Given the description of an element on the screen output the (x, y) to click on. 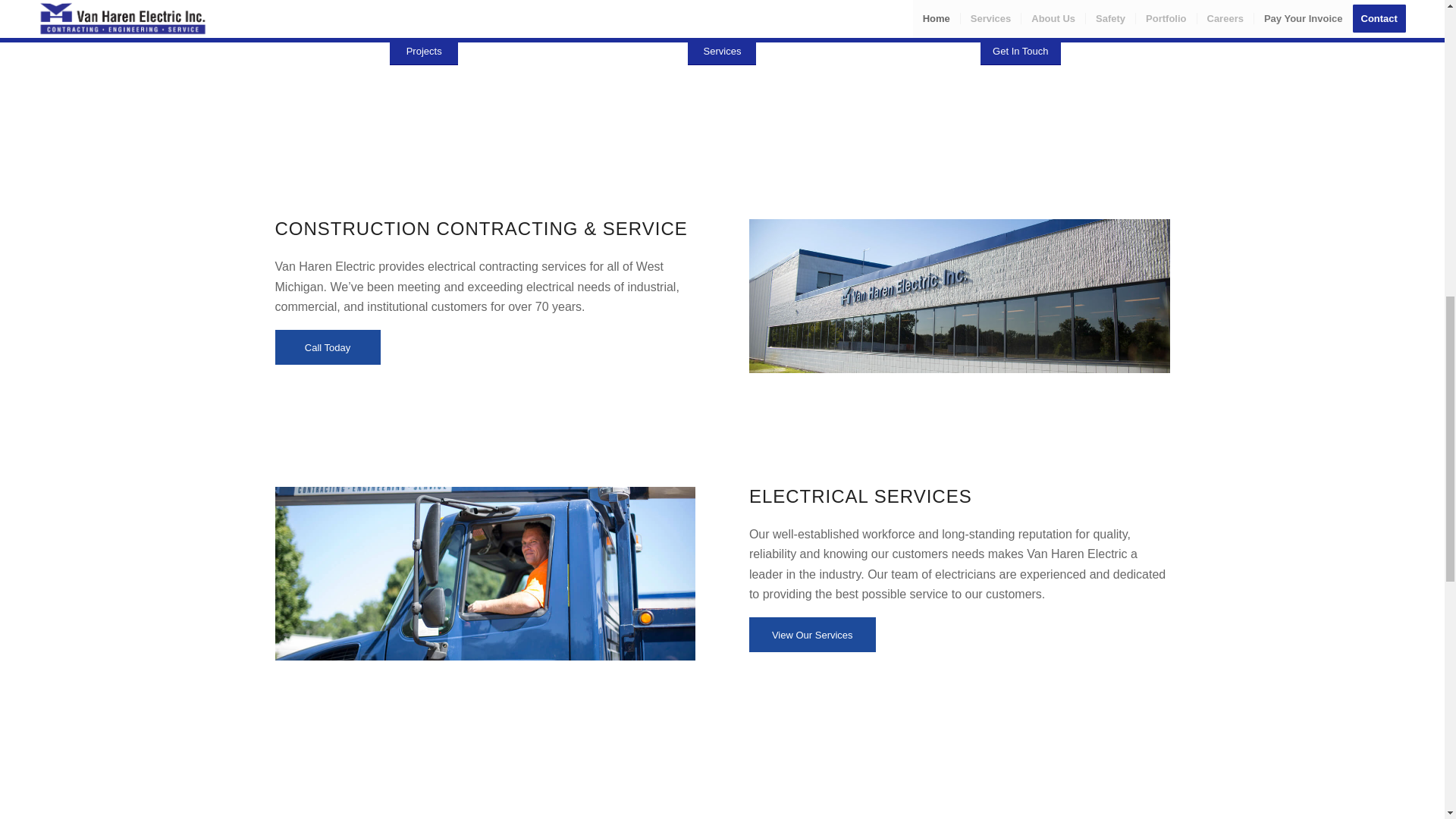
Services (721, 51)
Projects (424, 51)
View Our Services (812, 634)
Call Today (327, 347)
Get In Touch (1019, 51)
